Given the description of an element on the screen output the (x, y) to click on. 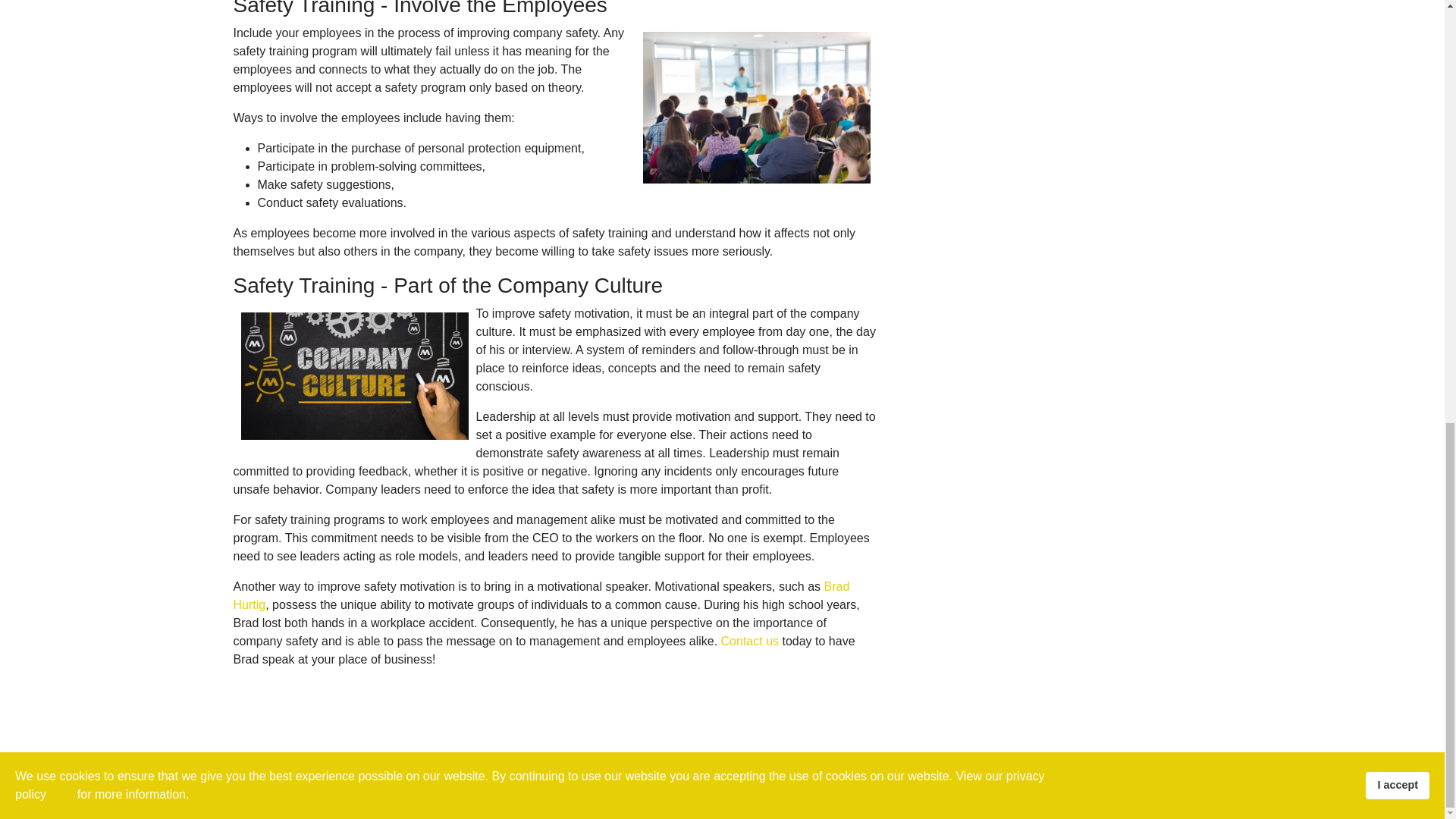
Website Design and Development (817, 787)
Microtronix ESolutions (817, 787)
Sitemap (898, 787)
Contact us (749, 640)
Brad Hurtig (541, 594)
